Given the description of an element on the screen output the (x, y) to click on. 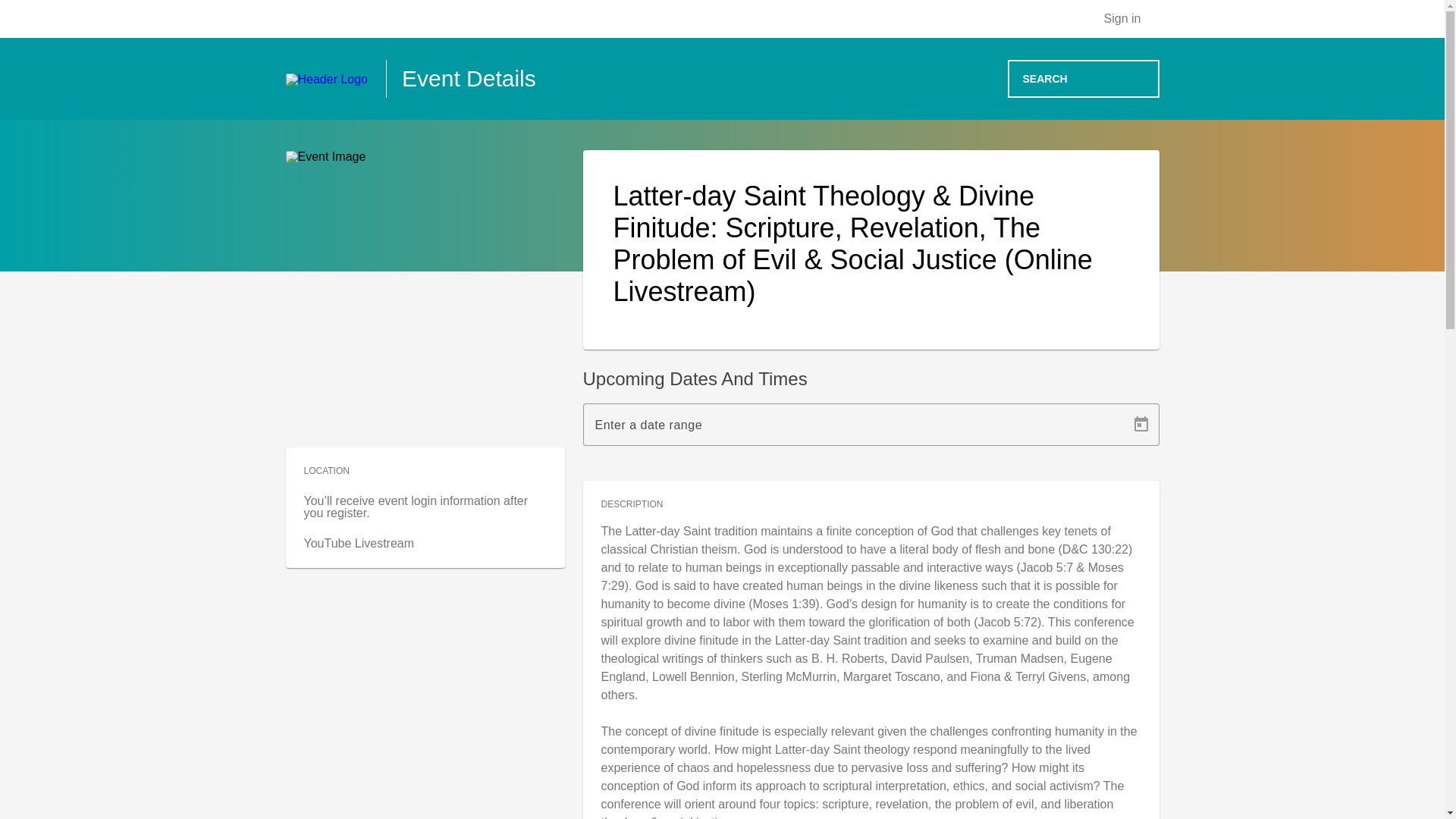
Sign in (1130, 18)
